Given the description of an element on the screen output the (x, y) to click on. 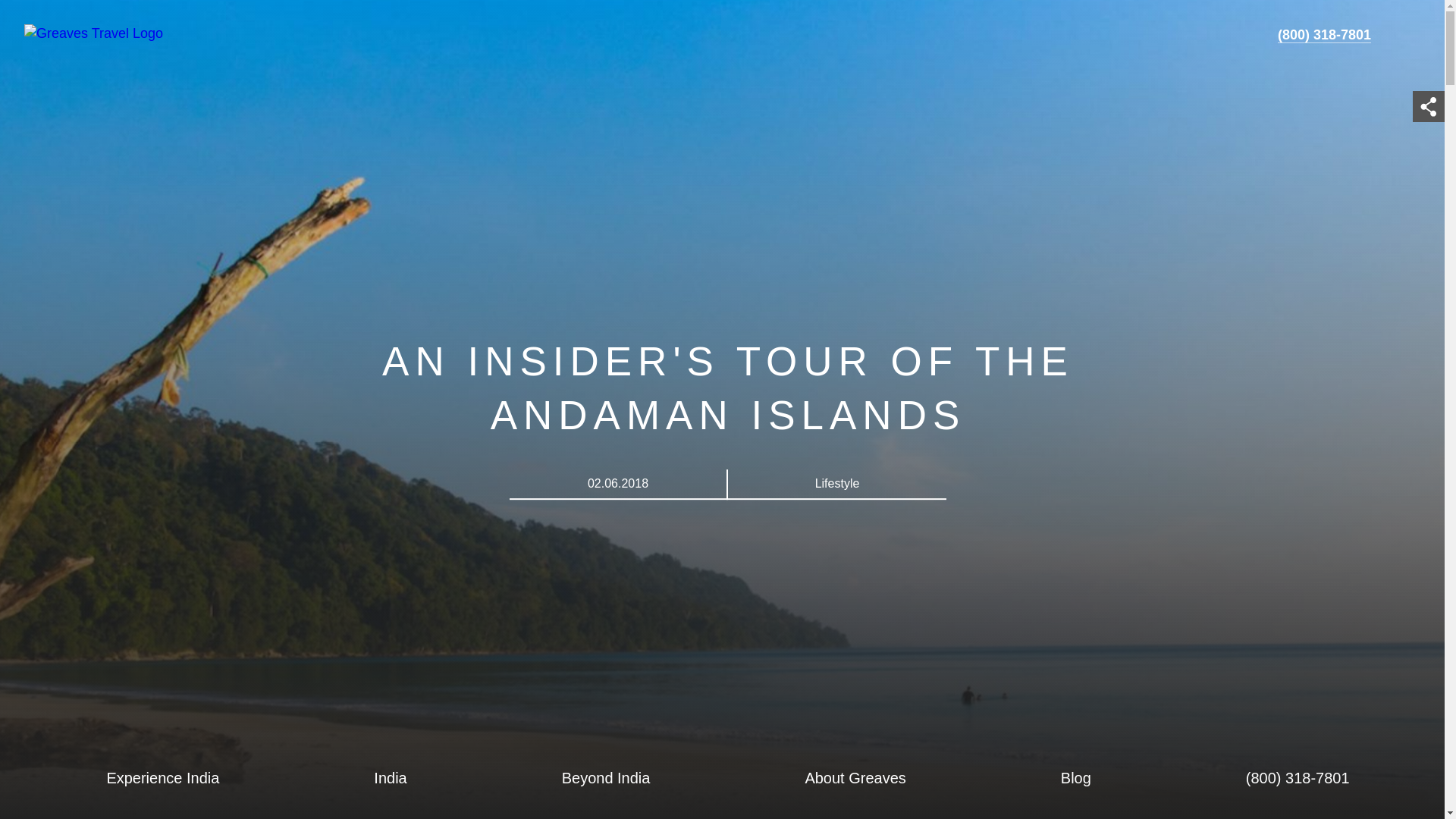
About Greaves (854, 777)
Blog (1075, 777)
India (390, 777)
Beyond India (605, 777)
Lifestyle (837, 482)
Experience India (162, 777)
